Given the description of an element on the screen output the (x, y) to click on. 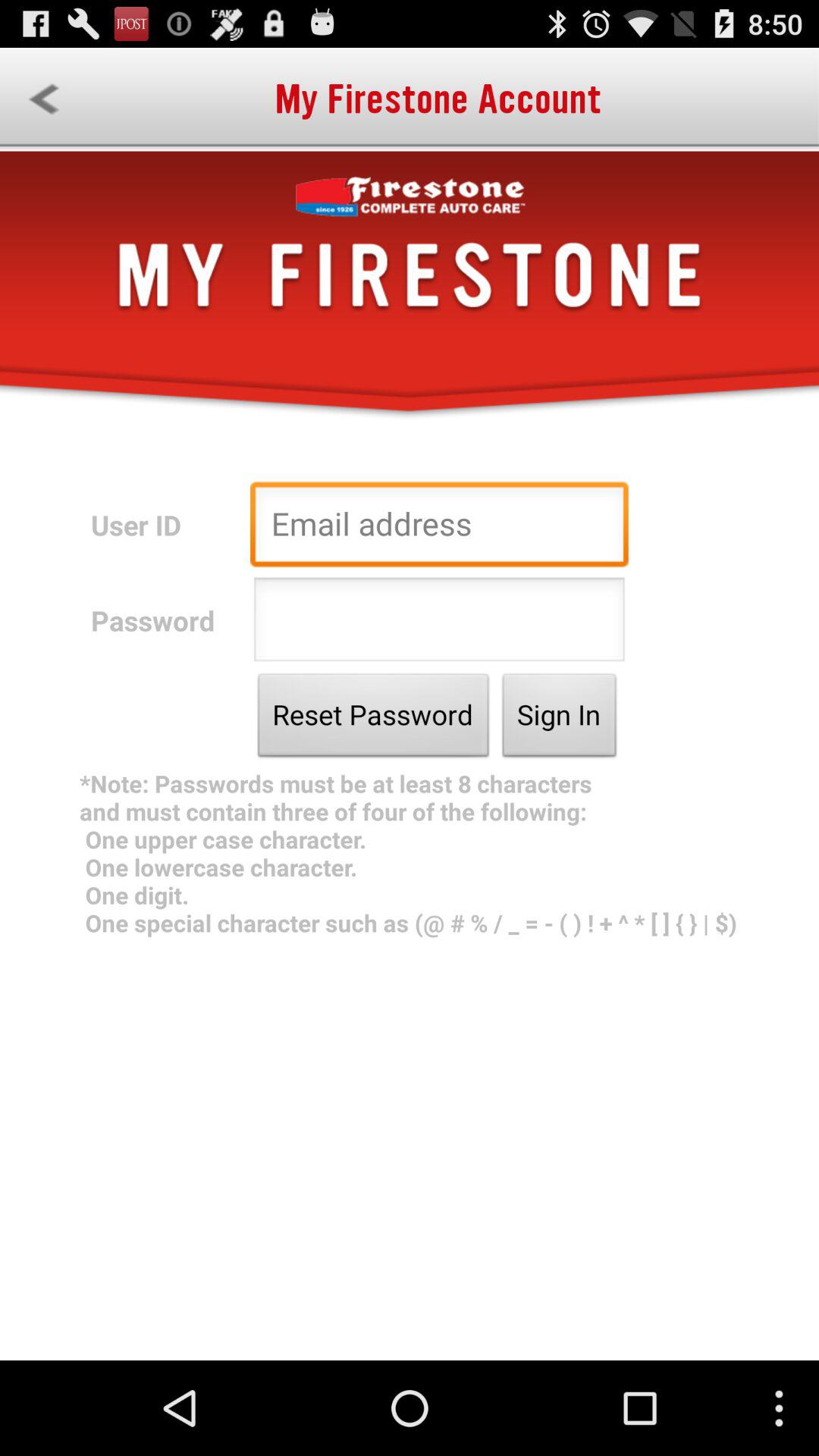
turn on icon to the right of the reset password icon (559, 719)
